Given the description of an element on the screen output the (x, y) to click on. 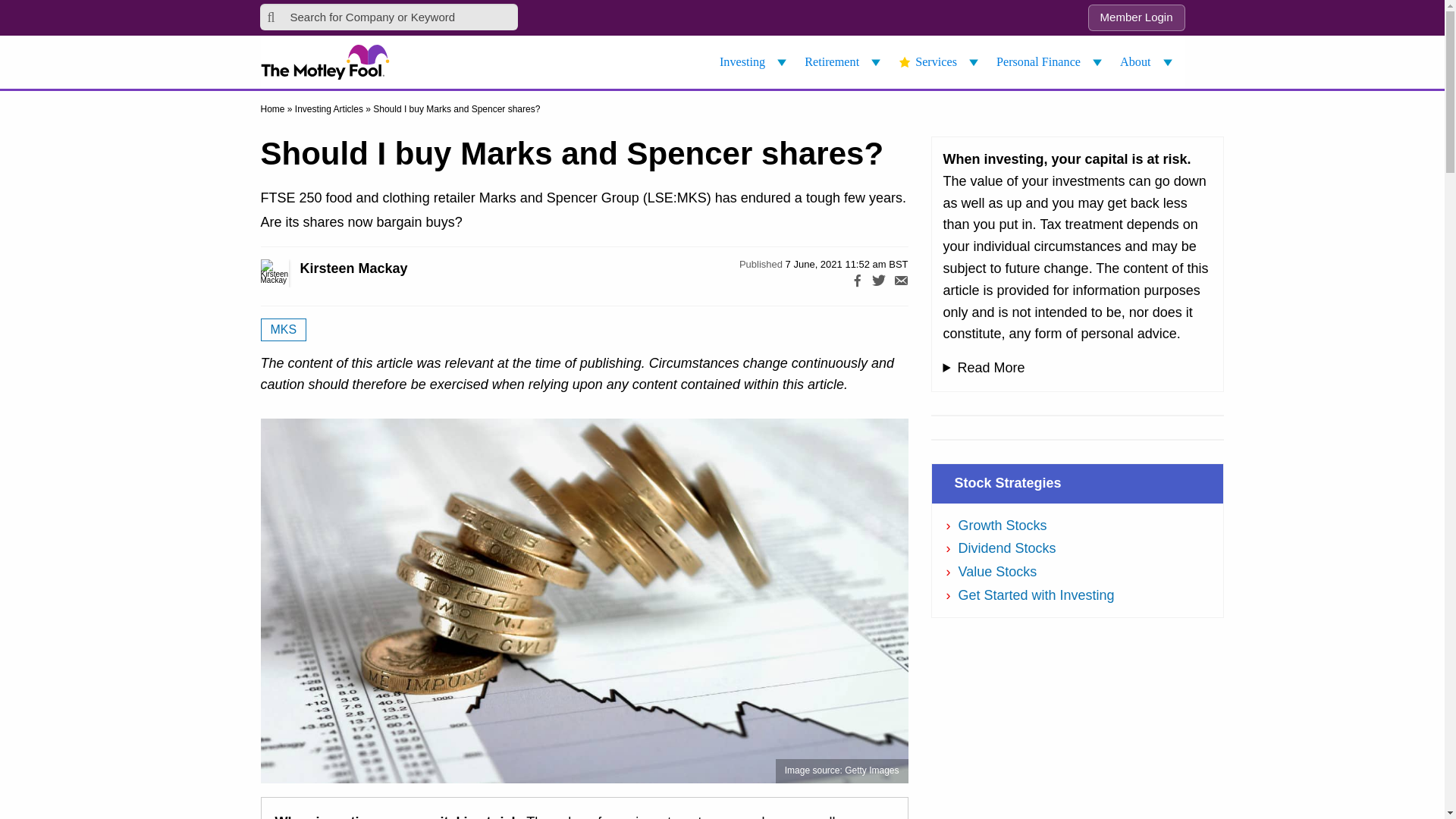
Kirsteen Mackay (290, 273)
Member Login (1136, 17)
Retirement (844, 62)
Investing (755, 62)
See more articles about MKS (283, 329)
Services (941, 62)
